Given the description of an element on the screen output the (x, y) to click on. 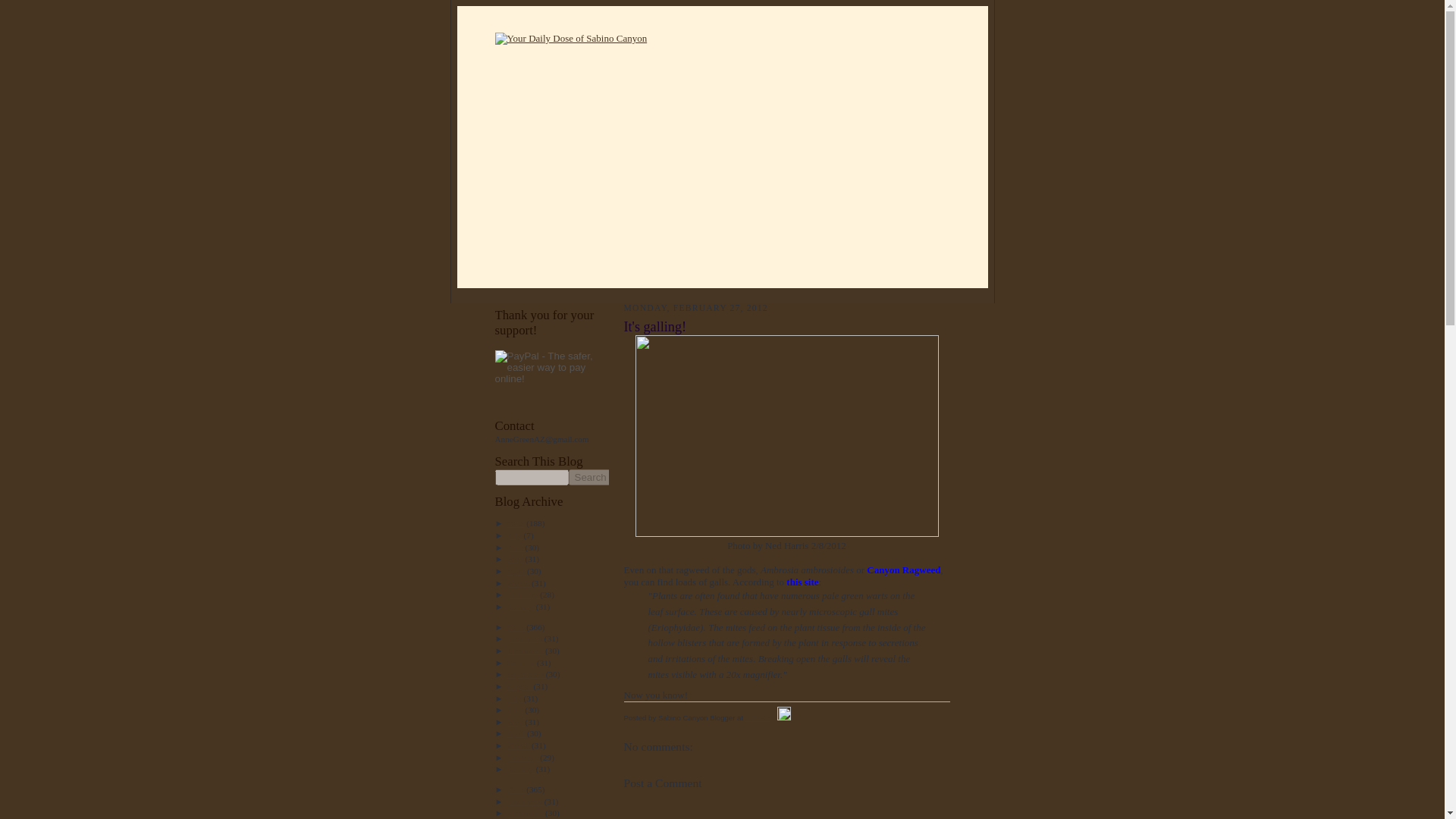
2016 (515, 626)
October (521, 662)
November (525, 650)
January (520, 605)
March (518, 583)
search (531, 477)
March (518, 745)
Search (590, 477)
Edit Post (783, 717)
Search (590, 477)
May (515, 721)
August (520, 686)
Search (590, 477)
April (516, 732)
June (515, 709)
